Given the description of an element on the screen output the (x, y) to click on. 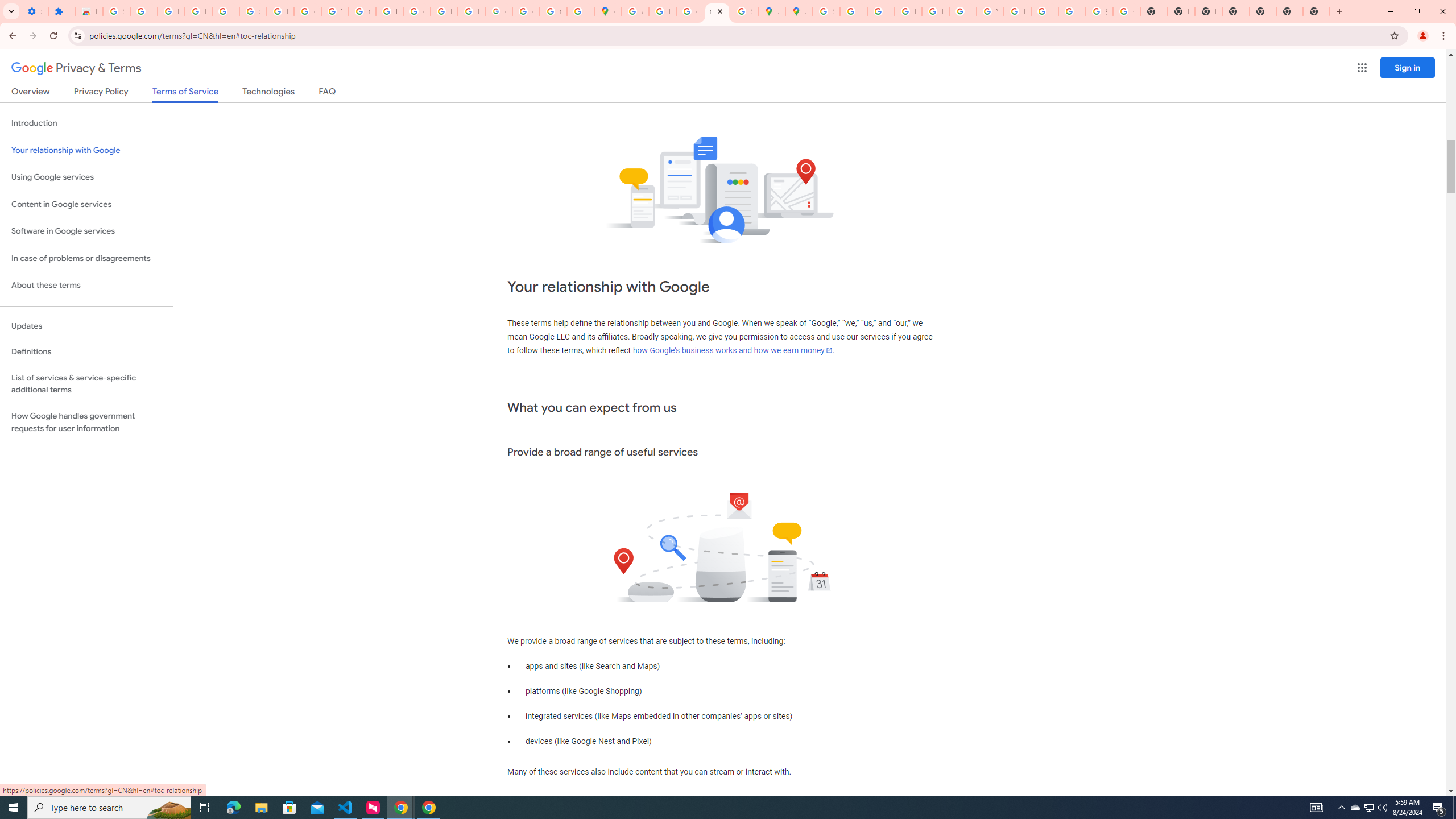
New Tab (1289, 11)
Google Maps (607, 11)
Settings - On startup (34, 11)
YouTube (990, 11)
services (874, 336)
